Given the description of an element on the screen output the (x, y) to click on. 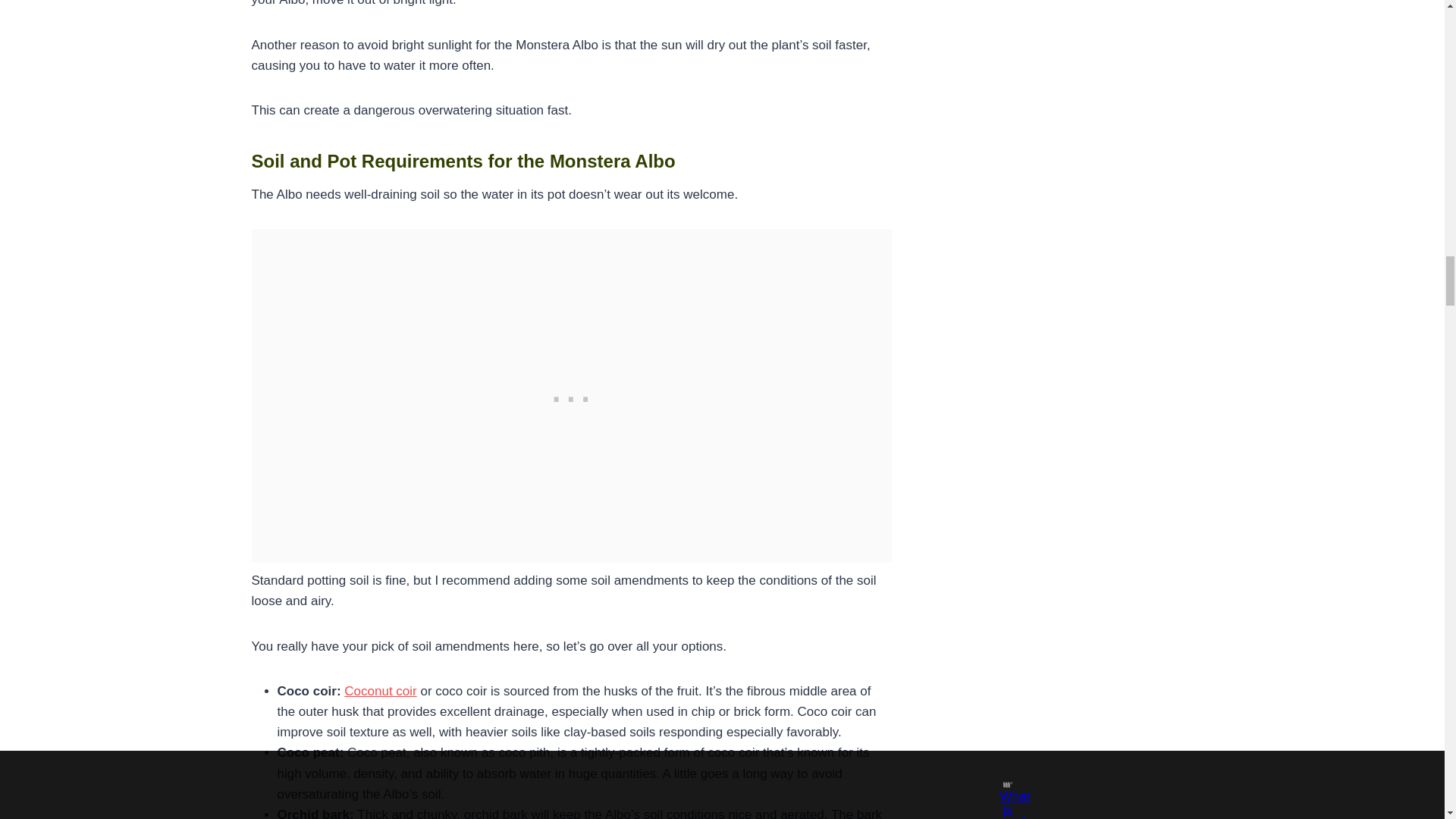
Coconut coir (379, 690)
